Given the description of an element on the screen output the (x, y) to click on. 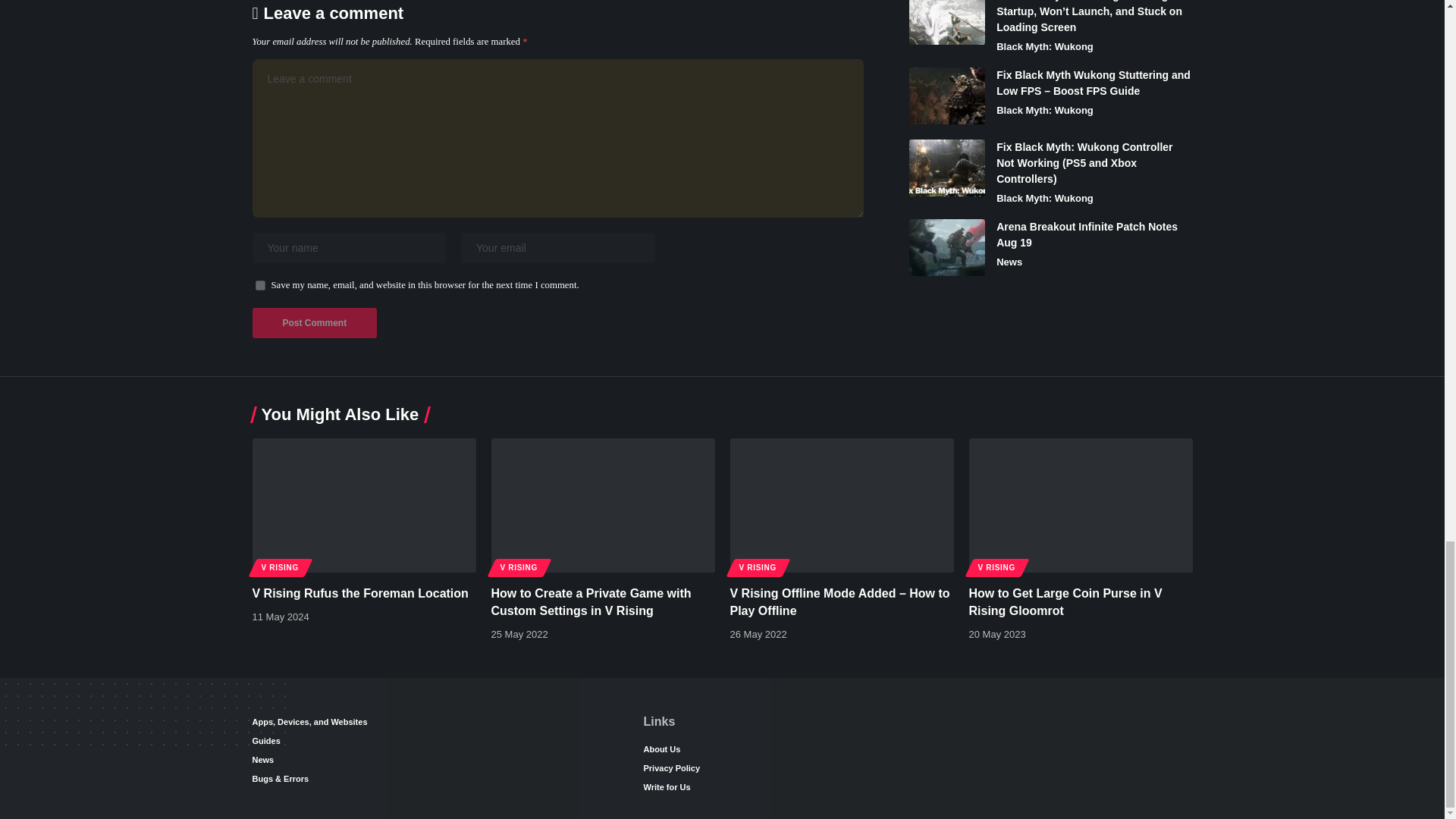
Post Comment (314, 322)
V Rising Rufus the Foreman Location (363, 505)
yes (259, 285)
